Given the description of an element on the screen output the (x, y) to click on. 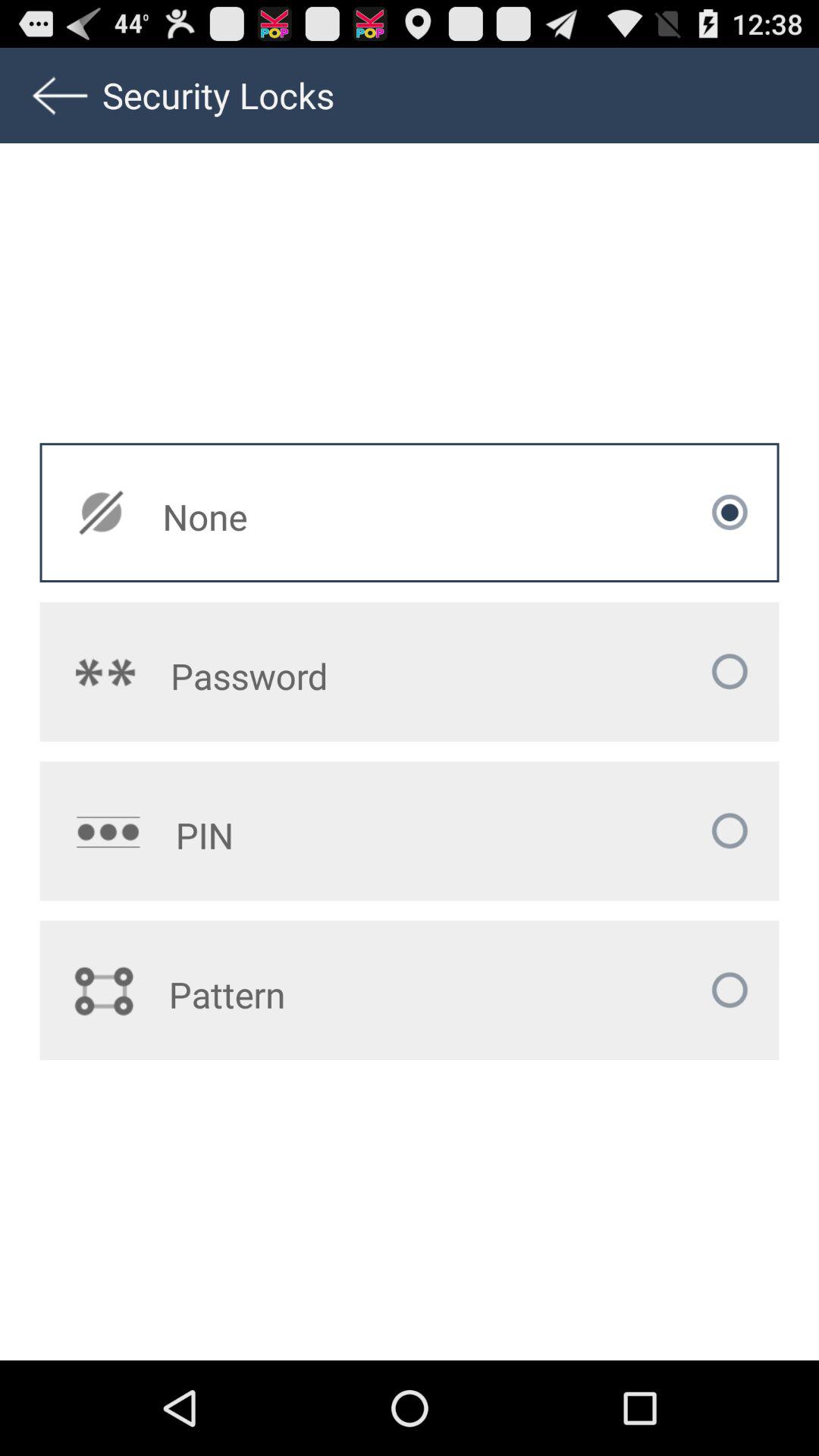
open none item (311, 516)
